Given the description of an element on the screen output the (x, y) to click on. 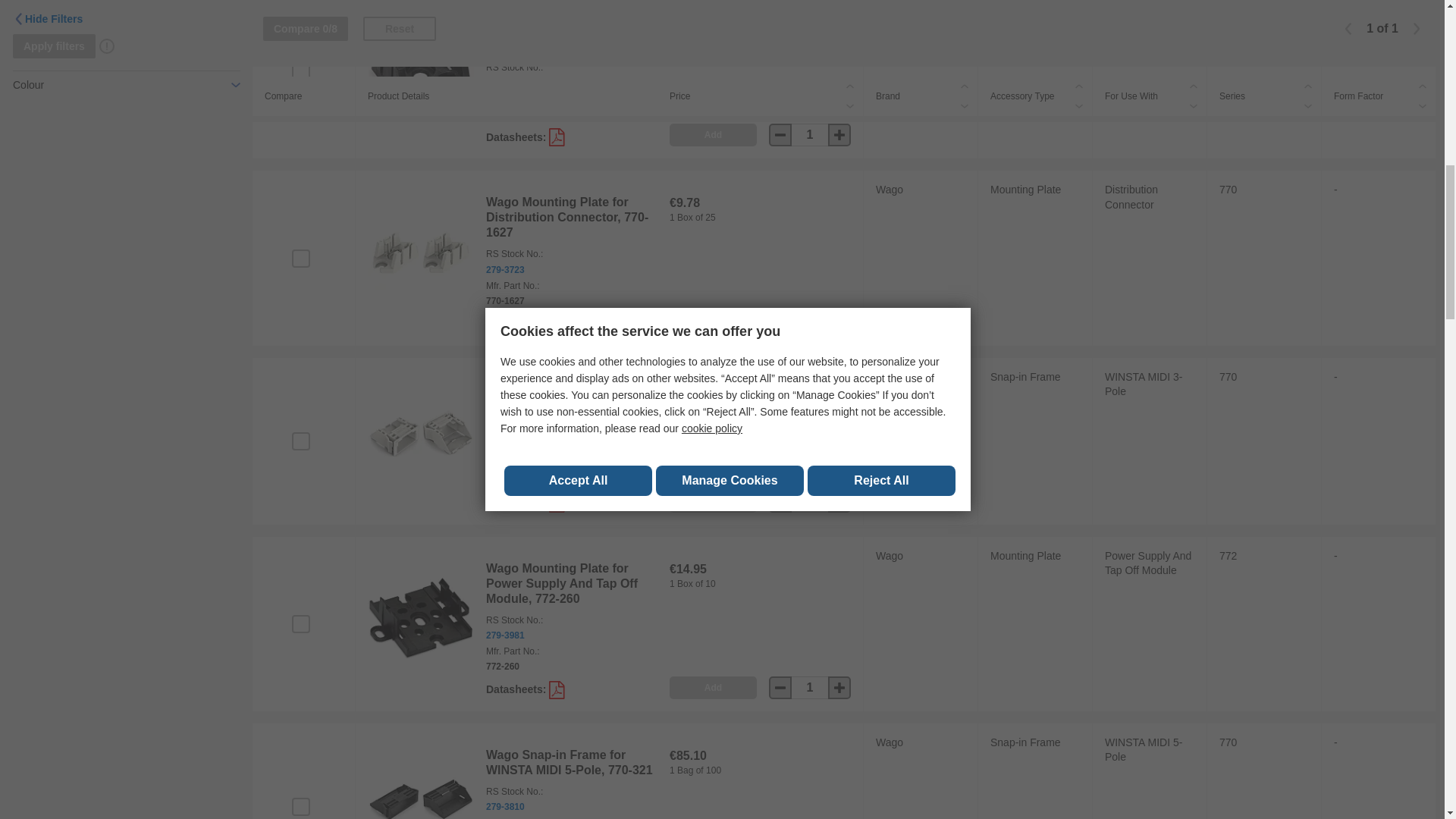
1 (810, 134)
on (299, 806)
on (299, 71)
on (299, 624)
on (299, 257)
1 (810, 500)
1 (810, 687)
on (299, 441)
1 (810, 322)
